Given the description of an element on the screen output the (x, y) to click on. 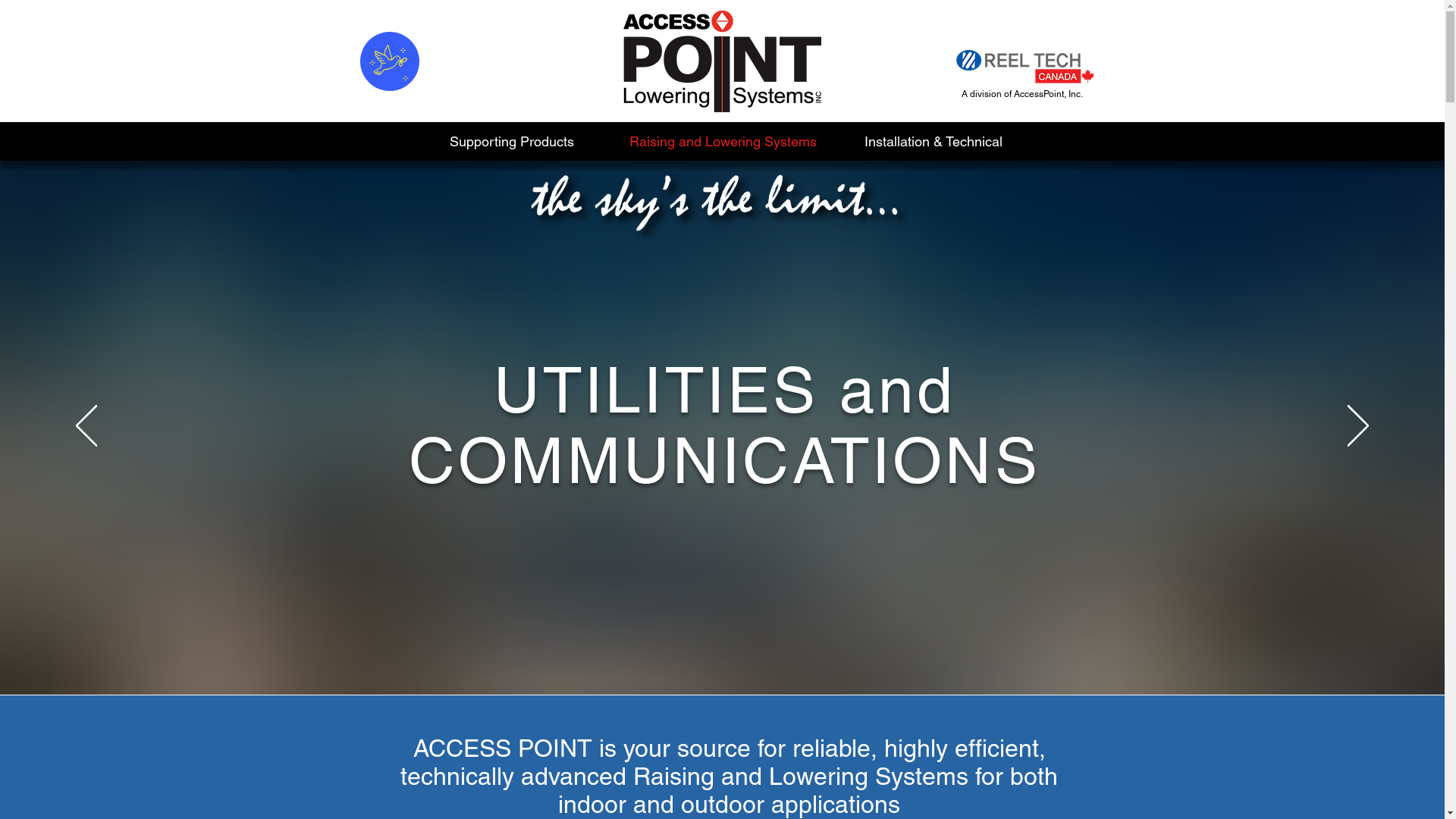
Raising and Lowering Systems Element type: text (722, 141)
A division of AccessPoint, Inc. Element type: text (1021, 93)
Installation & Technical Element type: text (933, 141)
Supporting Products Element type: text (511, 141)
